Given the description of an element on the screen output the (x, y) to click on. 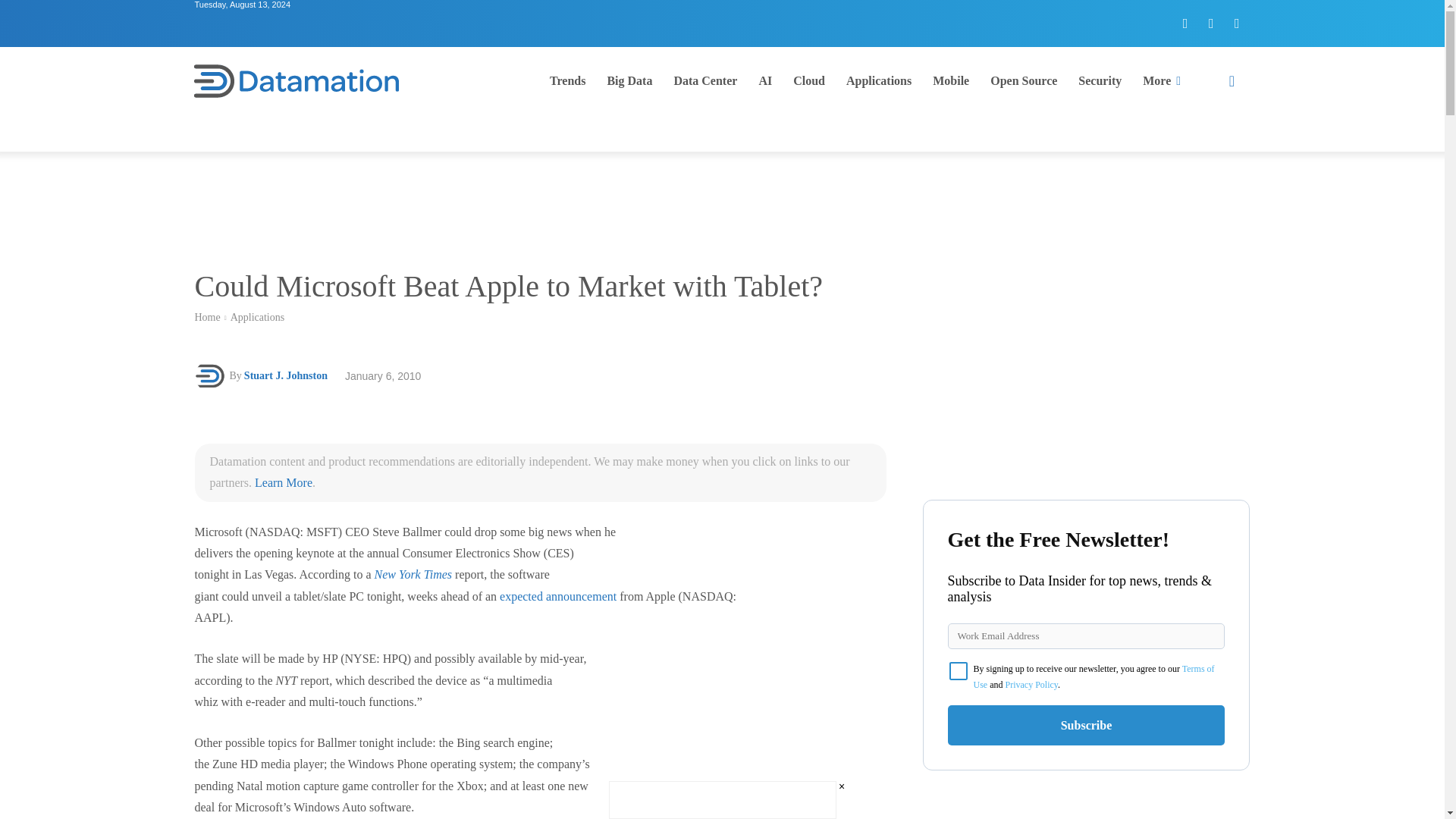
Security (1099, 81)
Youtube (1236, 23)
View all posts in Applications (257, 317)
on (958, 670)
Facebook (1185, 23)
Applications (257, 317)
Applications (878, 81)
Mobile (950, 81)
Data Center (705, 81)
Stuart J. Johnston (210, 376)
